Given the description of an element on the screen output the (x, y) to click on. 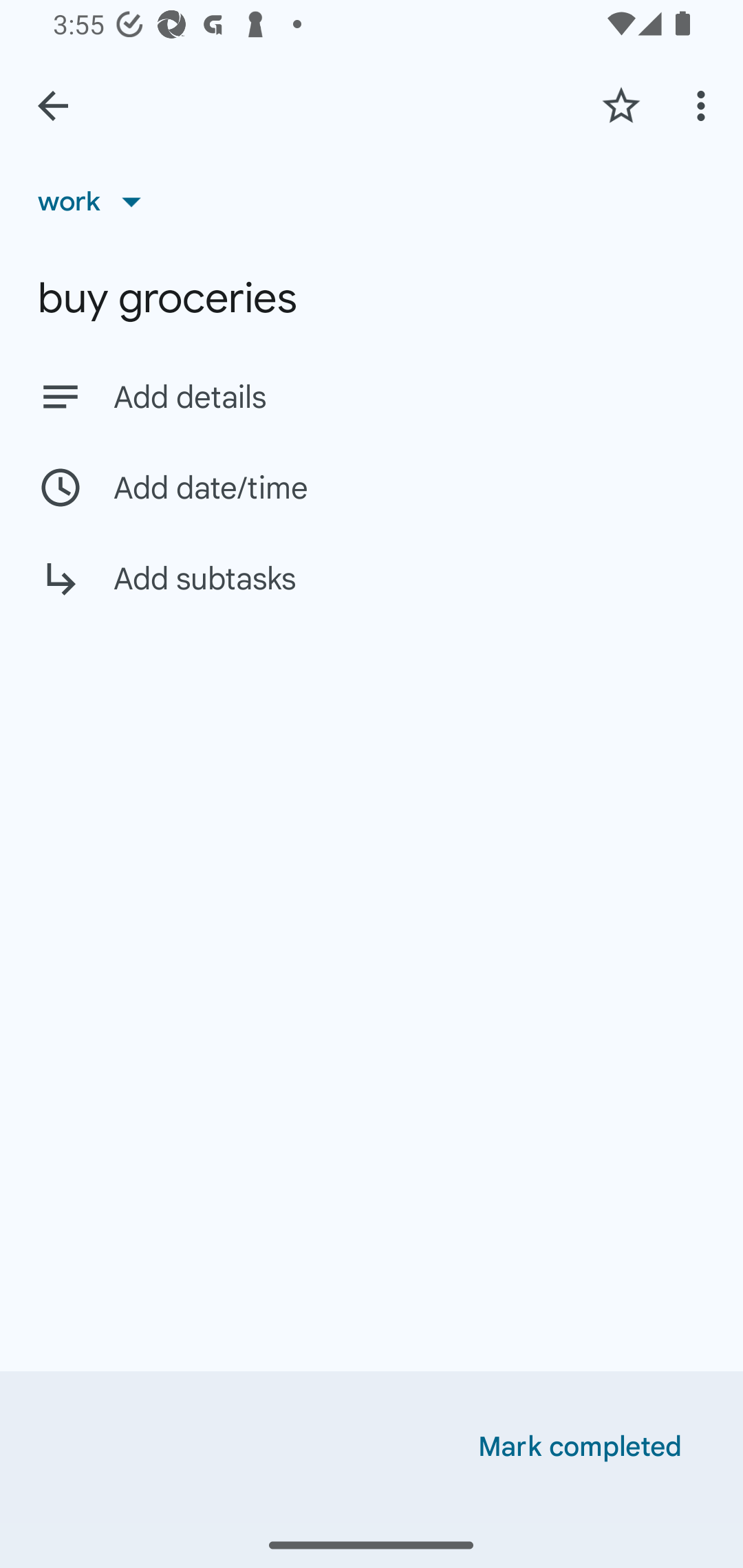
Back (53, 105)
Add star (620, 105)
More options (704, 105)
work List, work selected, 1 of 11 (95, 201)
buy groceries (371, 298)
Add details (371, 396)
Add details (409, 397)
Add date/time (371, 487)
Add subtasks (371, 593)
Mark completed (580, 1446)
